Given the description of an element on the screen output the (x, y) to click on. 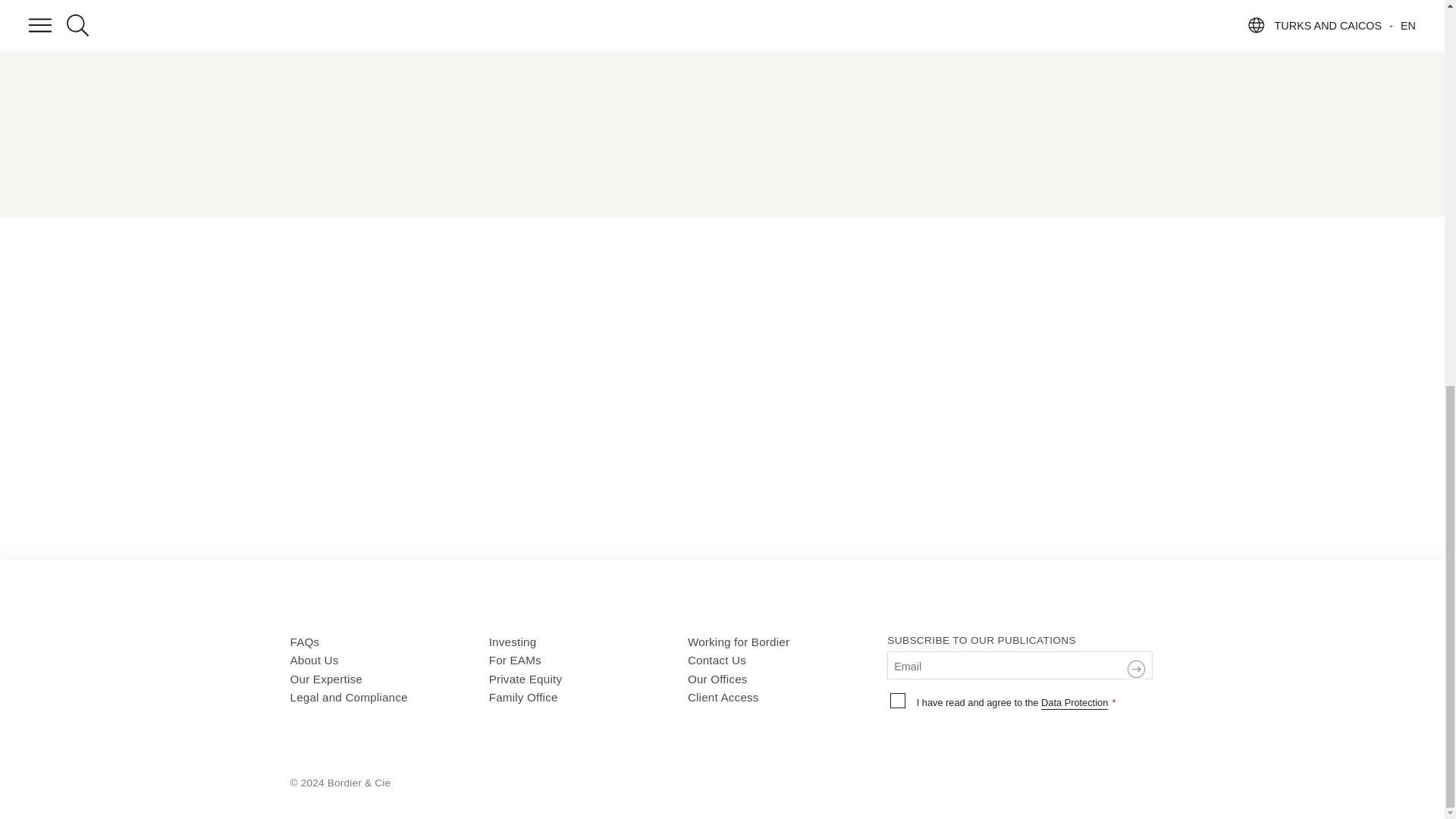
Contact Us (786, 660)
Investing (588, 642)
Legal and Compliance (388, 697)
Private Equity (588, 679)
1 (897, 700)
Family Office (588, 697)
About Us (388, 660)
For EAMs (588, 660)
Our Offices (786, 679)
Client Access (786, 697)
